Given the description of an element on the screen output the (x, y) to click on. 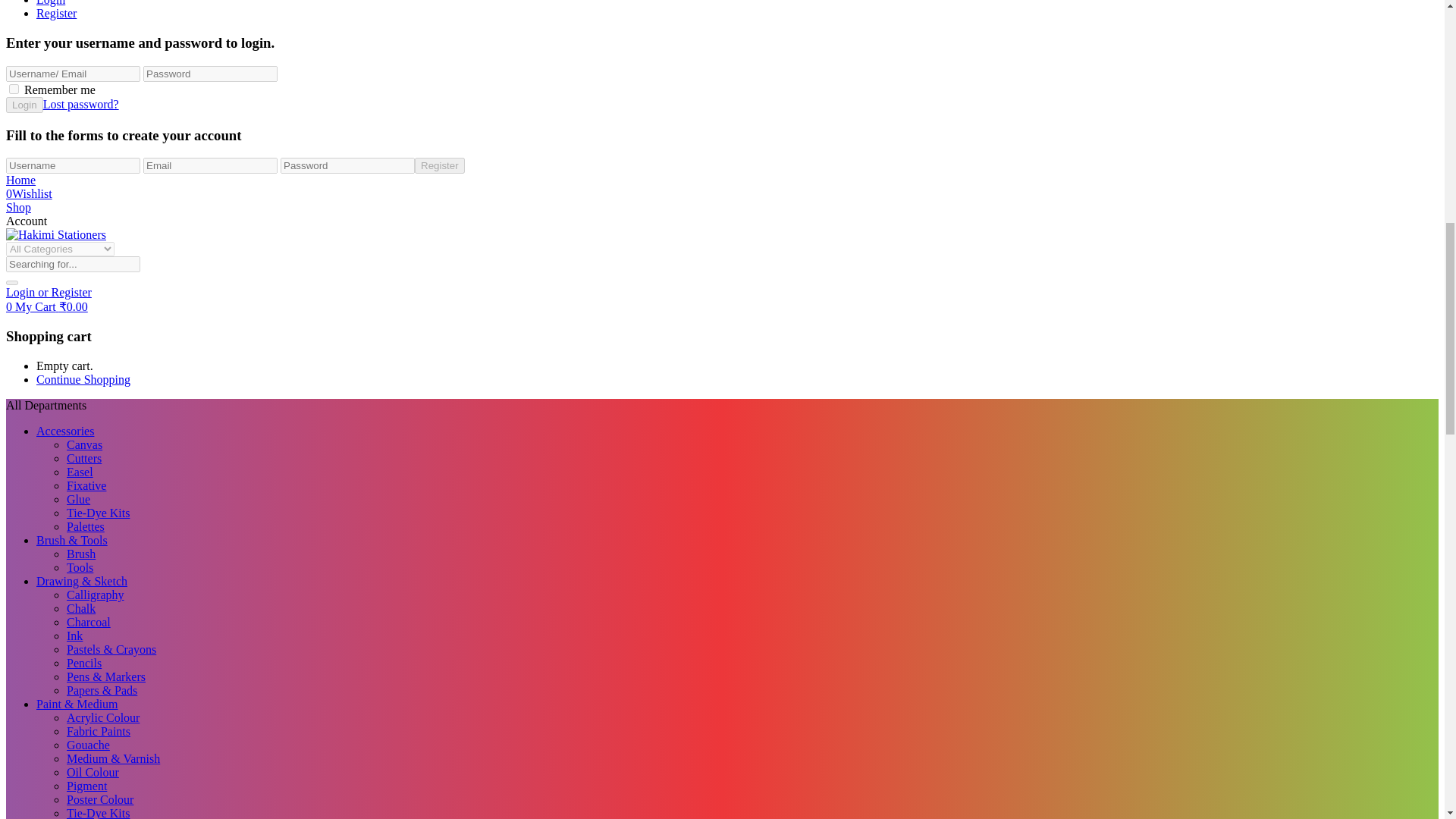
forever (13, 89)
Login (25, 220)
Login or Register (48, 291)
View your shopping cart (46, 306)
